Given the description of an element on the screen output the (x, y) to click on. 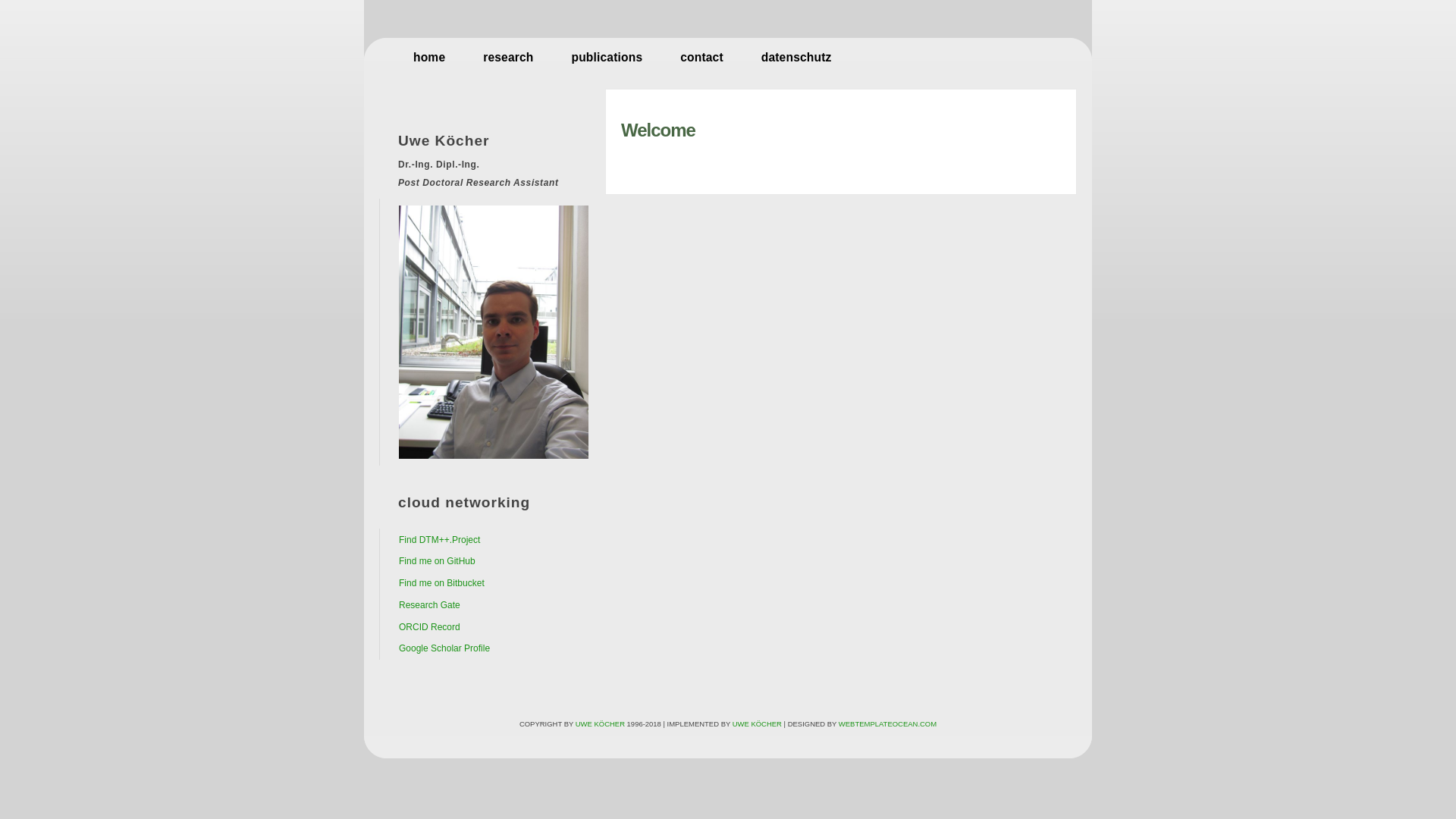
home Element type: text (429, 56)
Google Scholar Profile Element type: text (443, 648)
datenschutz Element type: text (796, 56)
Find DTM++.Project Element type: text (439, 538)
Find me on GitHub Element type: text (436, 560)
Research Gate Element type: text (429, 604)
research Element type: text (508, 56)
Find me on Bitbucket Element type: text (441, 582)
contact Element type: text (701, 56)
ORCID Record Element type: text (429, 626)
WEBTEMPLATEOCEAN.COM Element type: text (887, 723)
publications Element type: text (607, 56)
